Given the description of an element on the screen output the (x, y) to click on. 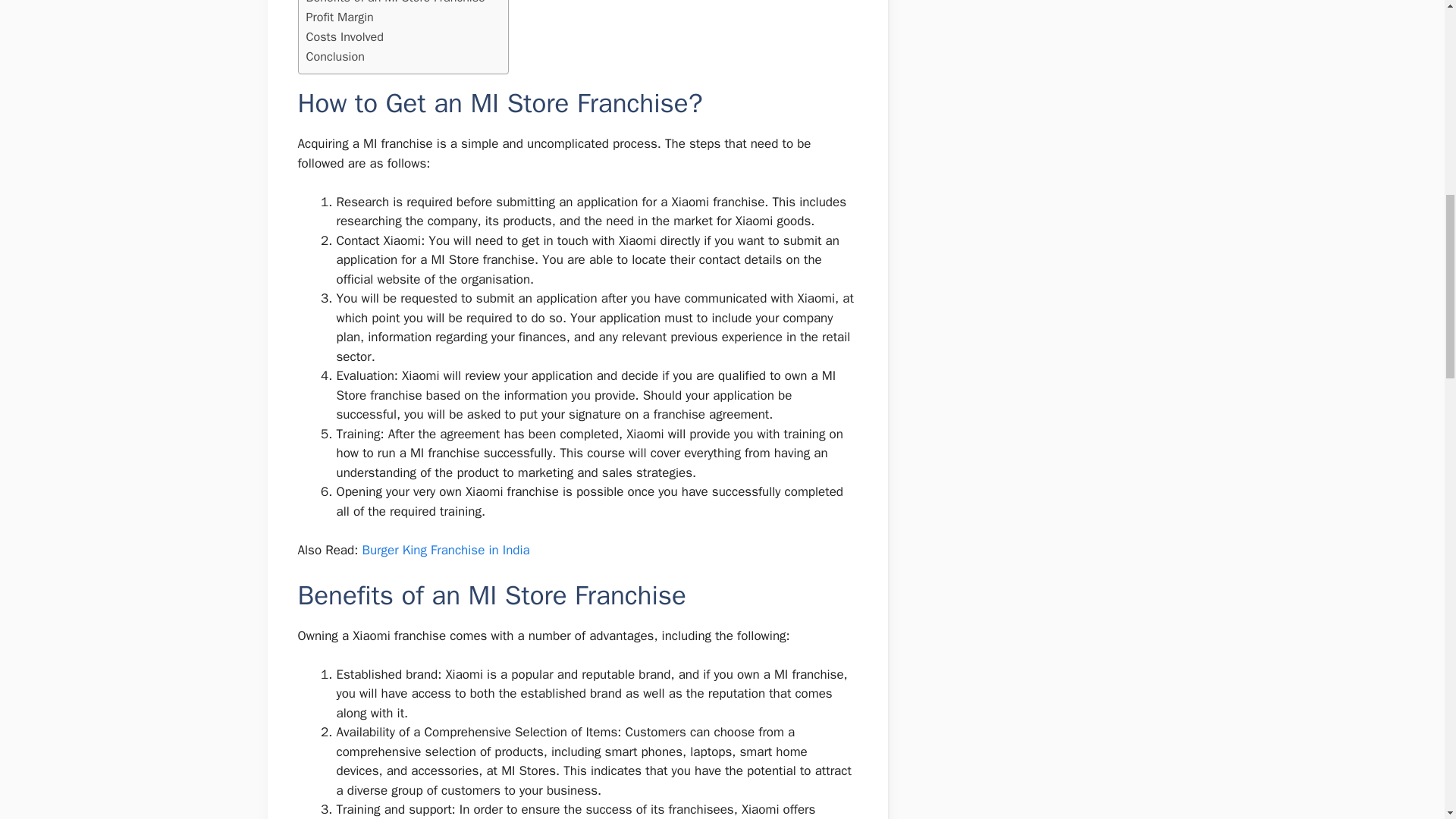
Profit Margin (339, 17)
Scroll back to top (1406, 720)
Burger King Franchise in India (445, 549)
Costs Involved (344, 36)
Benefits of an MI Store Franchise (394, 3)
Benefits of an MI Store Franchise (394, 3)
Conclusion (335, 56)
Costs Involved (344, 36)
Conclusion (335, 56)
Profit Margin (339, 17)
